Given the description of an element on the screen output the (x, y) to click on. 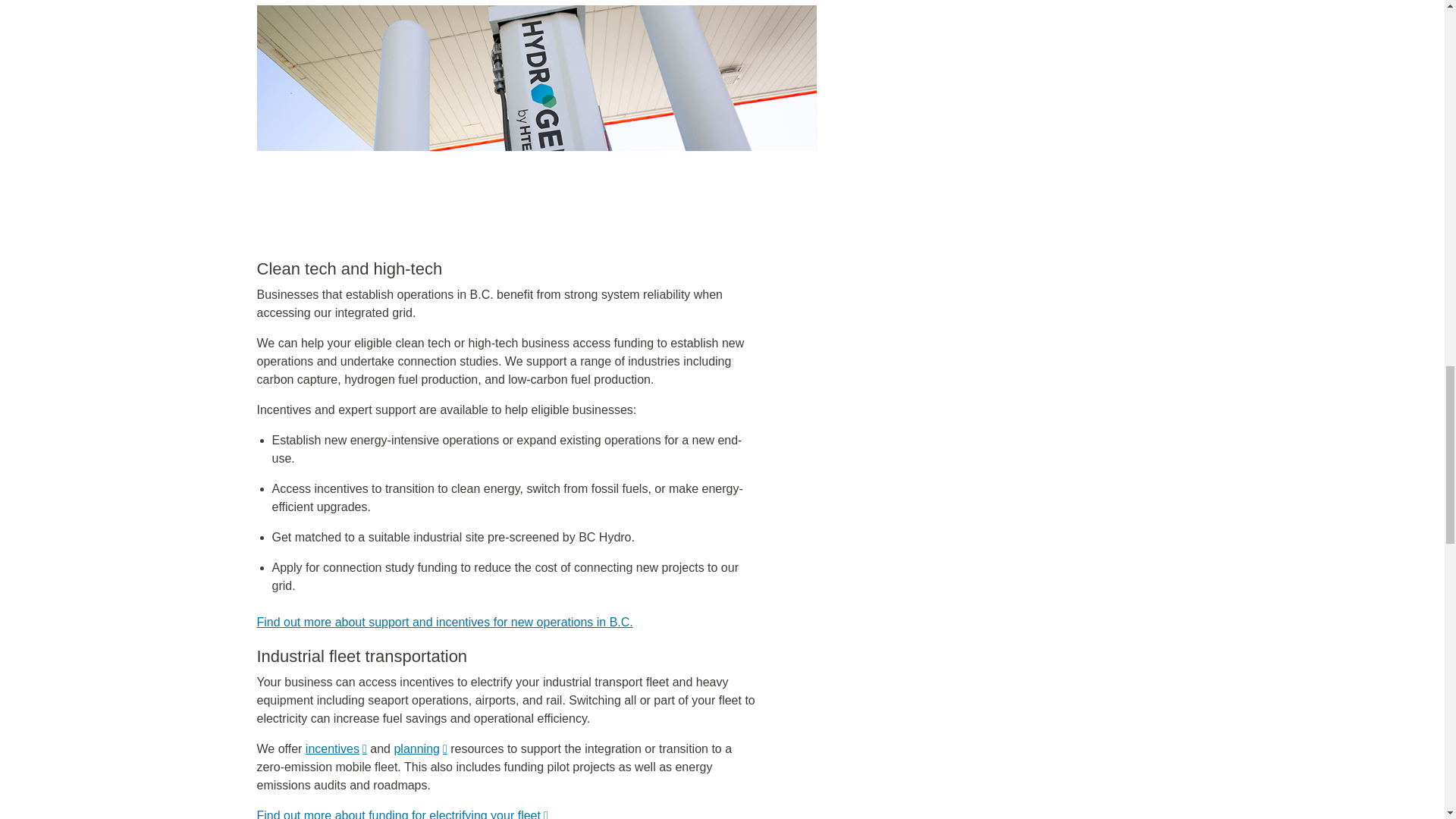
Establishing new operations (443, 621)
